Given the description of an element on the screen output the (x, y) to click on. 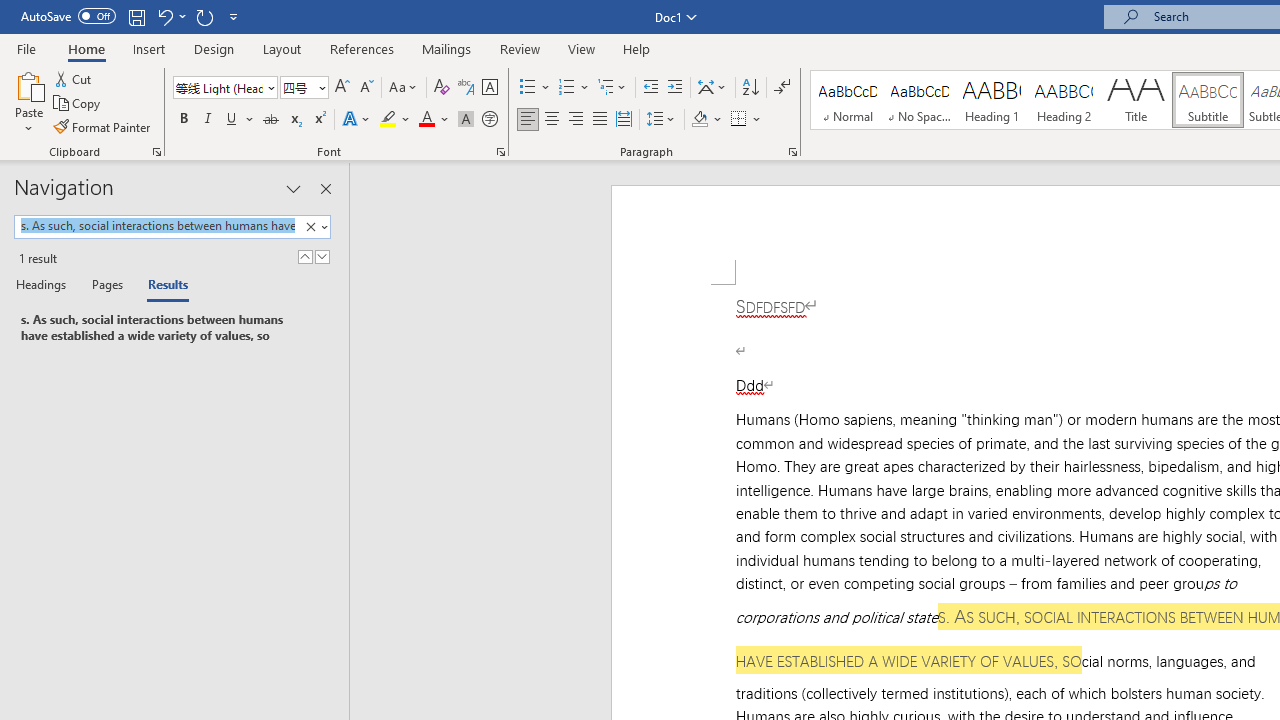
Repeat Style (204, 15)
Result 1 of 1 (166, 328)
Previous Result (304, 256)
